Given the description of an element on the screen output the (x, y) to click on. 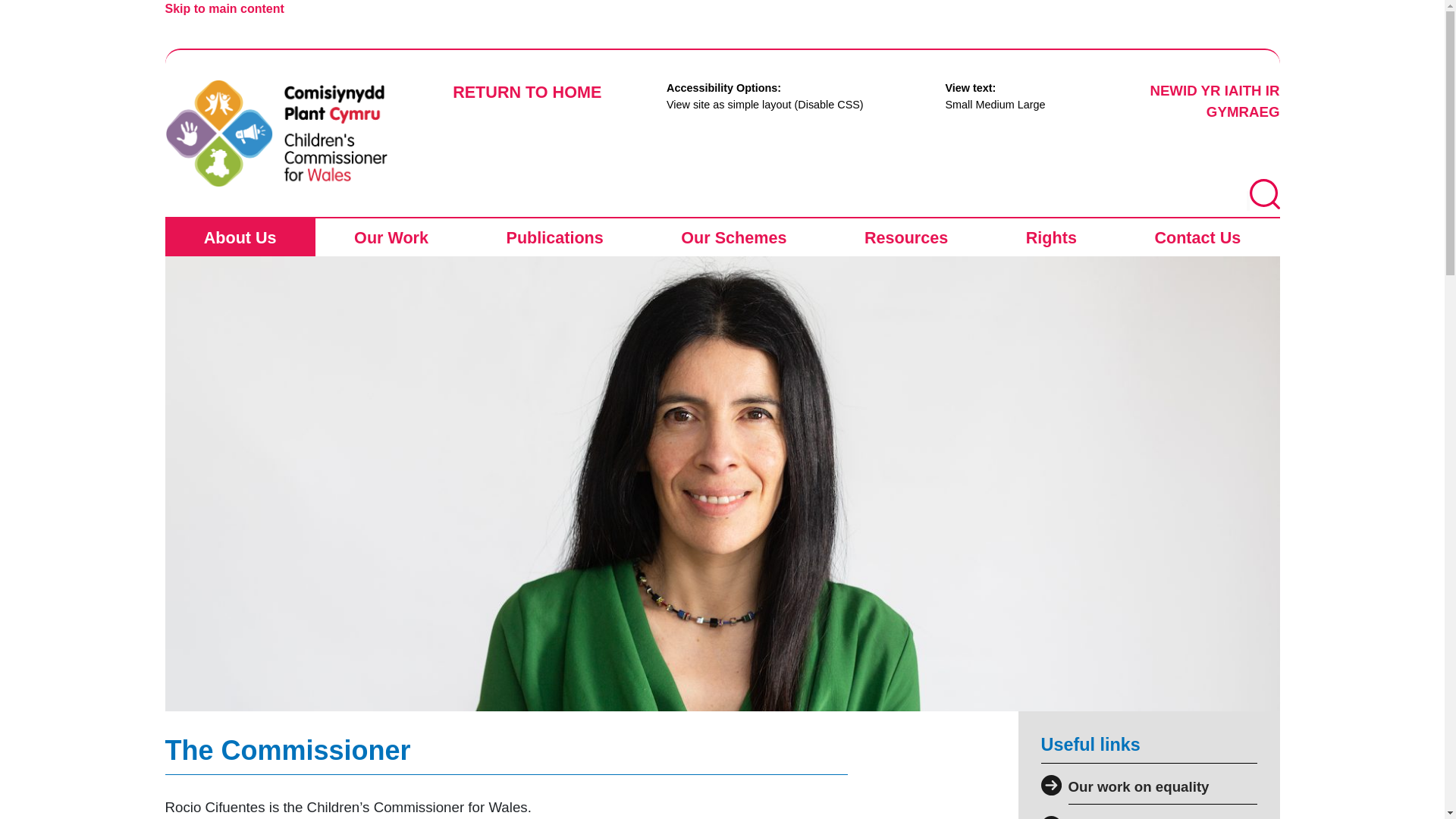
Publications (554, 237)
NEWID YR IAITH IR GYMRAEG (1214, 100)
Our Work (391, 237)
Skip to main content (224, 8)
Our Schemes (733, 237)
About Us (240, 237)
Contact Us (1197, 237)
Resources (906, 237)
Medium (994, 104)
Search (1264, 194)
